Given the description of an element on the screen output the (x, y) to click on. 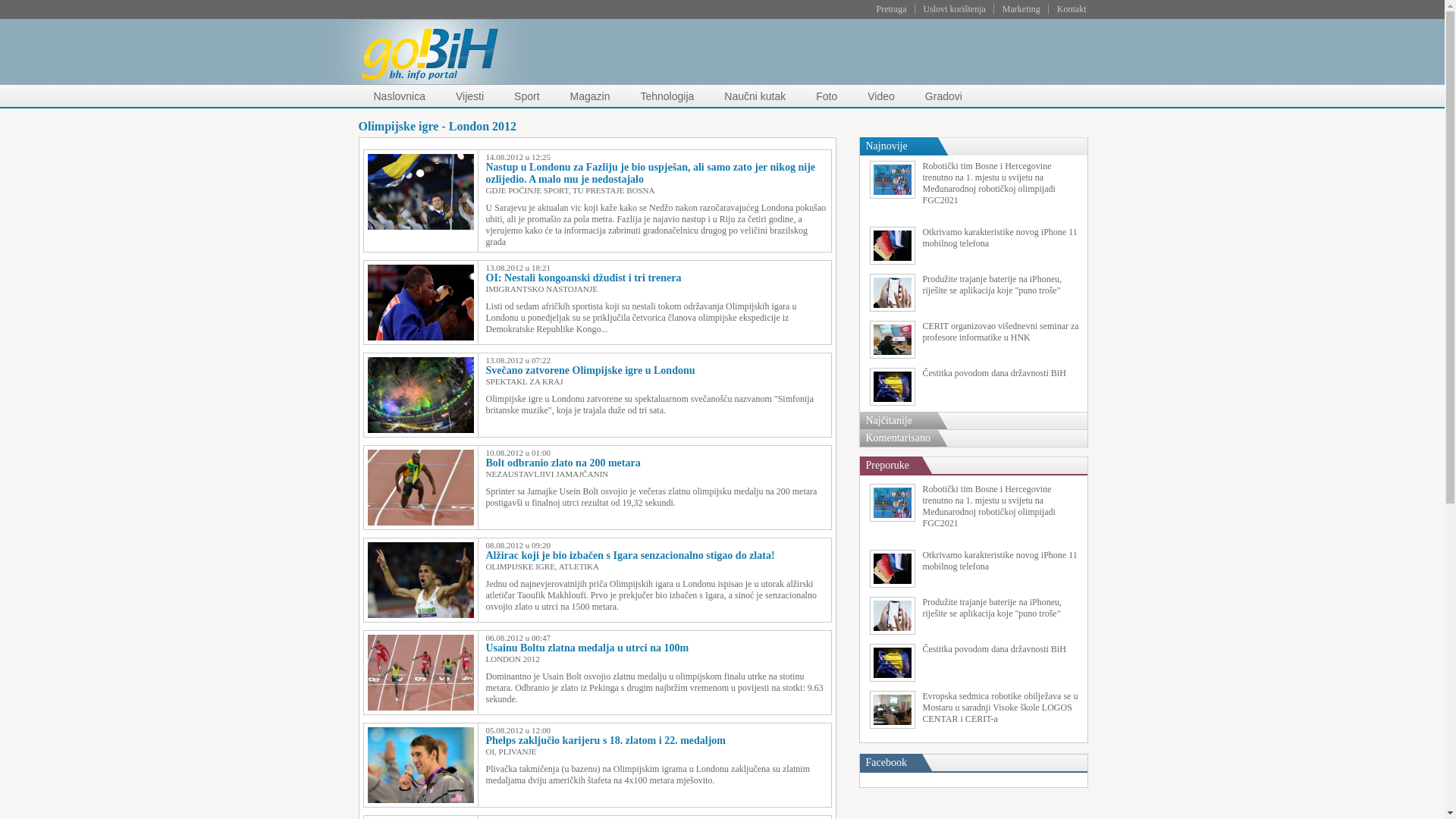
Marketing Element type: text (1021, 8)
Vijesti Element type: text (469, 96)
Otkrivamo karakteristike novog iPhone 11 mobilnog telefona Element type: text (973, 245)
Magazin Element type: text (590, 96)
Sport Element type: text (526, 96)
Naslovnica Element type: text (398, 96)
Foto Element type: text (826, 96)
Gradovi Element type: text (943, 96)
Tehnologija Element type: text (666, 96)
Pretraga Element type: text (891, 8)
Kontakt Element type: text (1071, 8)
Usainu Boltu zlatna medalja u utrci na 100m Element type: text (586, 647)
Bolt odbranio zlato na 200 metara Element type: text (562, 462)
Otkrivamo karakteristike novog iPhone 11 mobilnog telefona Element type: text (973, 568)
Video Element type: text (881, 96)
